Given the description of an element on the screen output the (x, y) to click on. 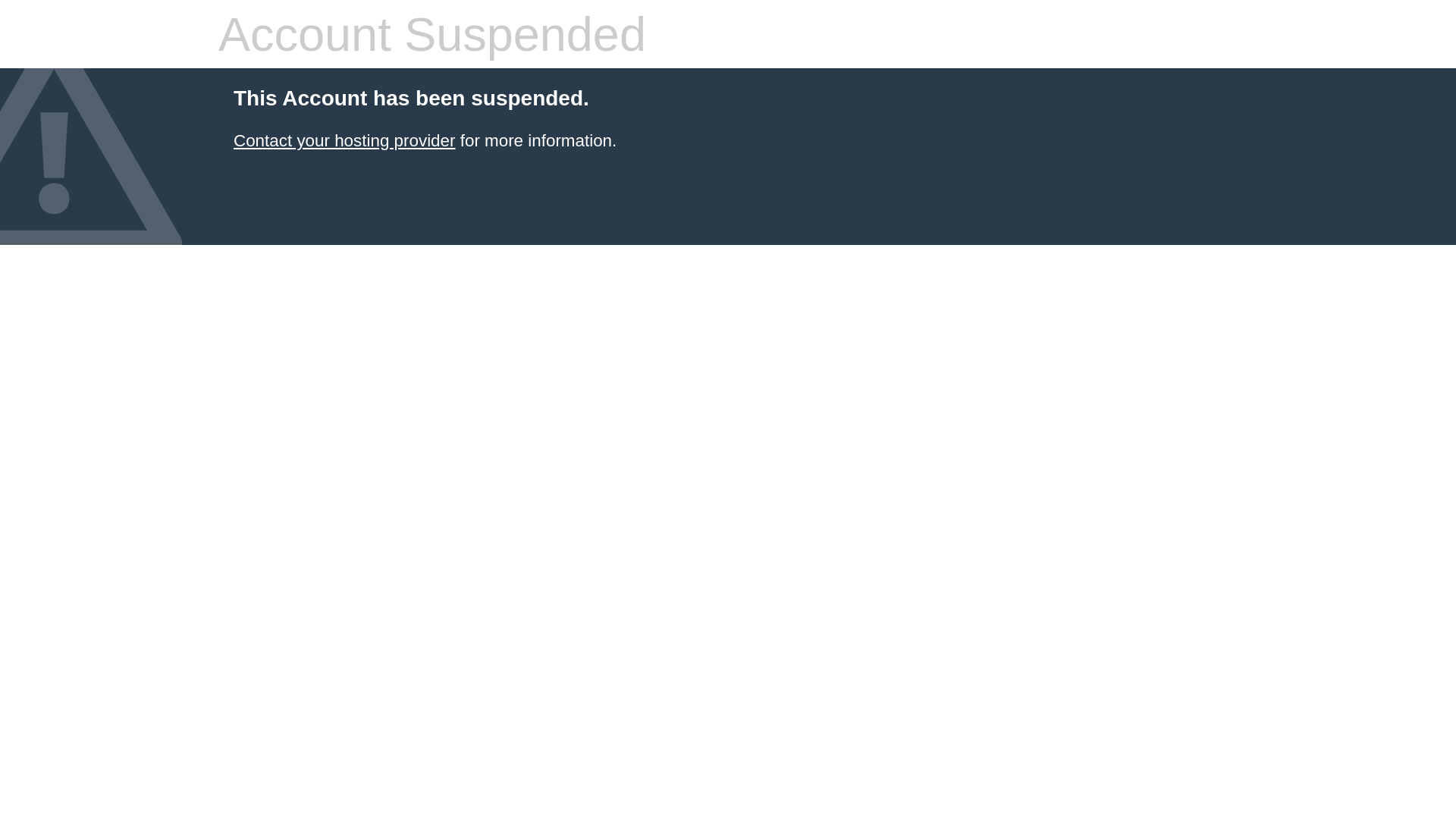
Contact your hosting provider Element type: text (344, 140)
